Given the description of an element on the screen output the (x, y) to click on. 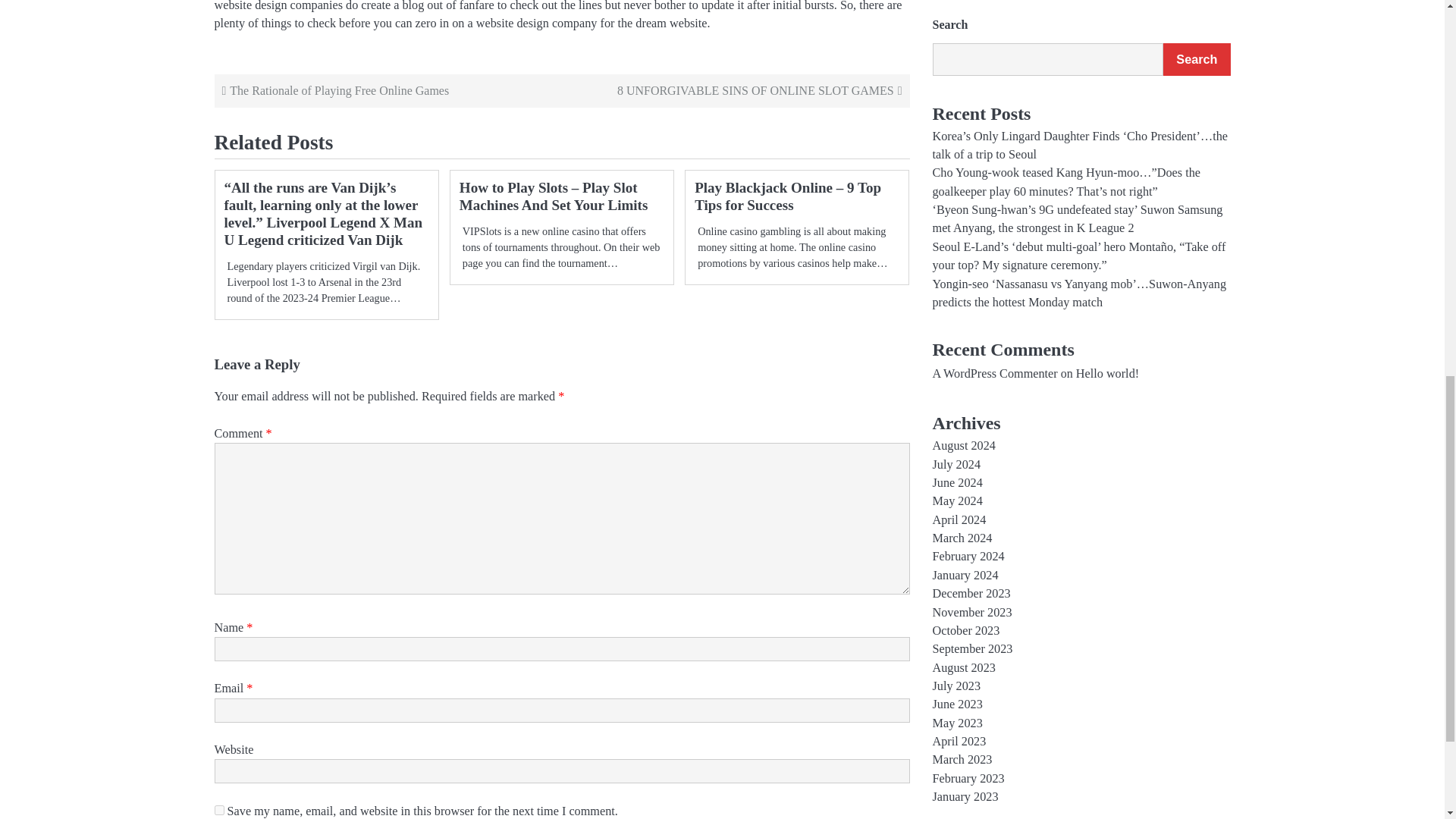
8 UNFORGIVABLE SINS OF ONLINE SLOT GAMES (734, 90)
yes (219, 809)
The Rationale of Playing Free Online Games (389, 90)
